Given the description of an element on the screen output the (x, y) to click on. 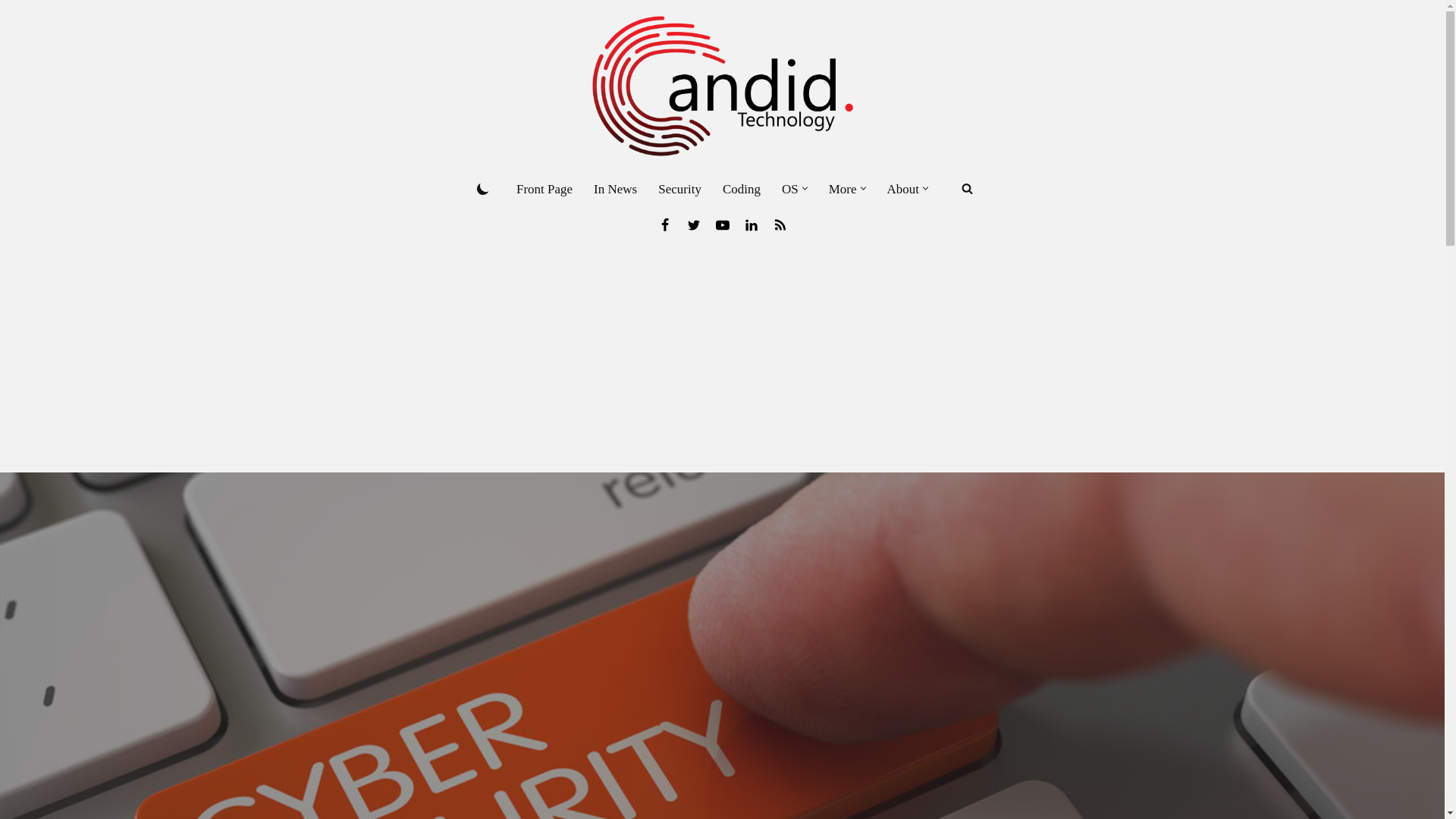
Security (679, 188)
Facebook (664, 224)
Youtube (721, 224)
Twitter (692, 224)
Front Page (544, 188)
About (903, 188)
Coding (741, 188)
Skip to content (11, 31)
More (842, 188)
In News (615, 188)
News (779, 224)
Linkedin (750, 224)
